Given the description of an element on the screen output the (x, y) to click on. 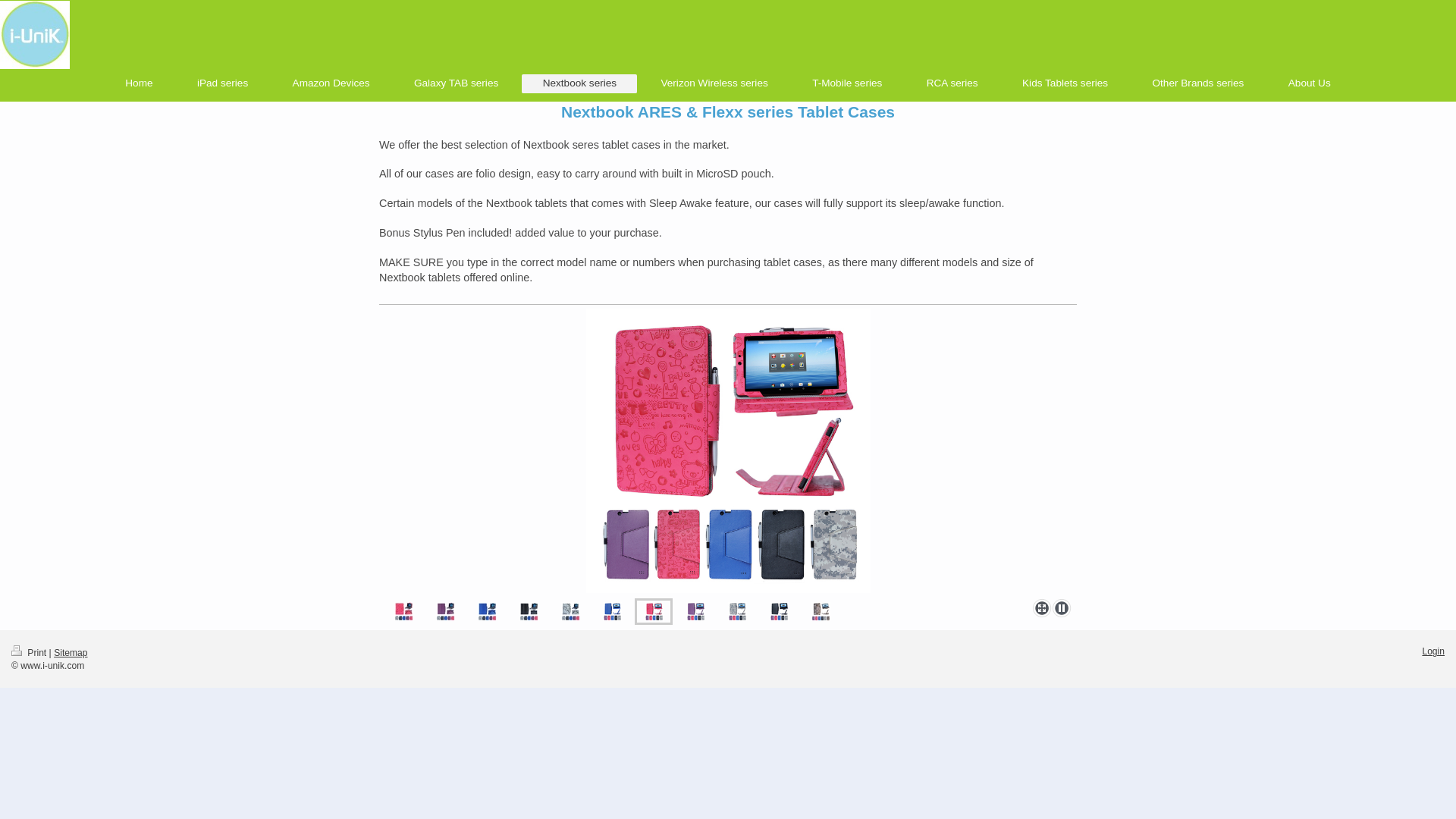
Amazon Devices (330, 83)
Home (138, 83)
T-Mobile series (847, 83)
Galaxy TAB series (456, 83)
About Us (1309, 83)
Verizon Wireless series (714, 83)
iPad series (222, 83)
Kids Tablets series (1064, 83)
Nextbook series (579, 83)
RCA series (951, 83)
Other Brands series (1197, 83)
